Given the description of an element on the screen output the (x, y) to click on. 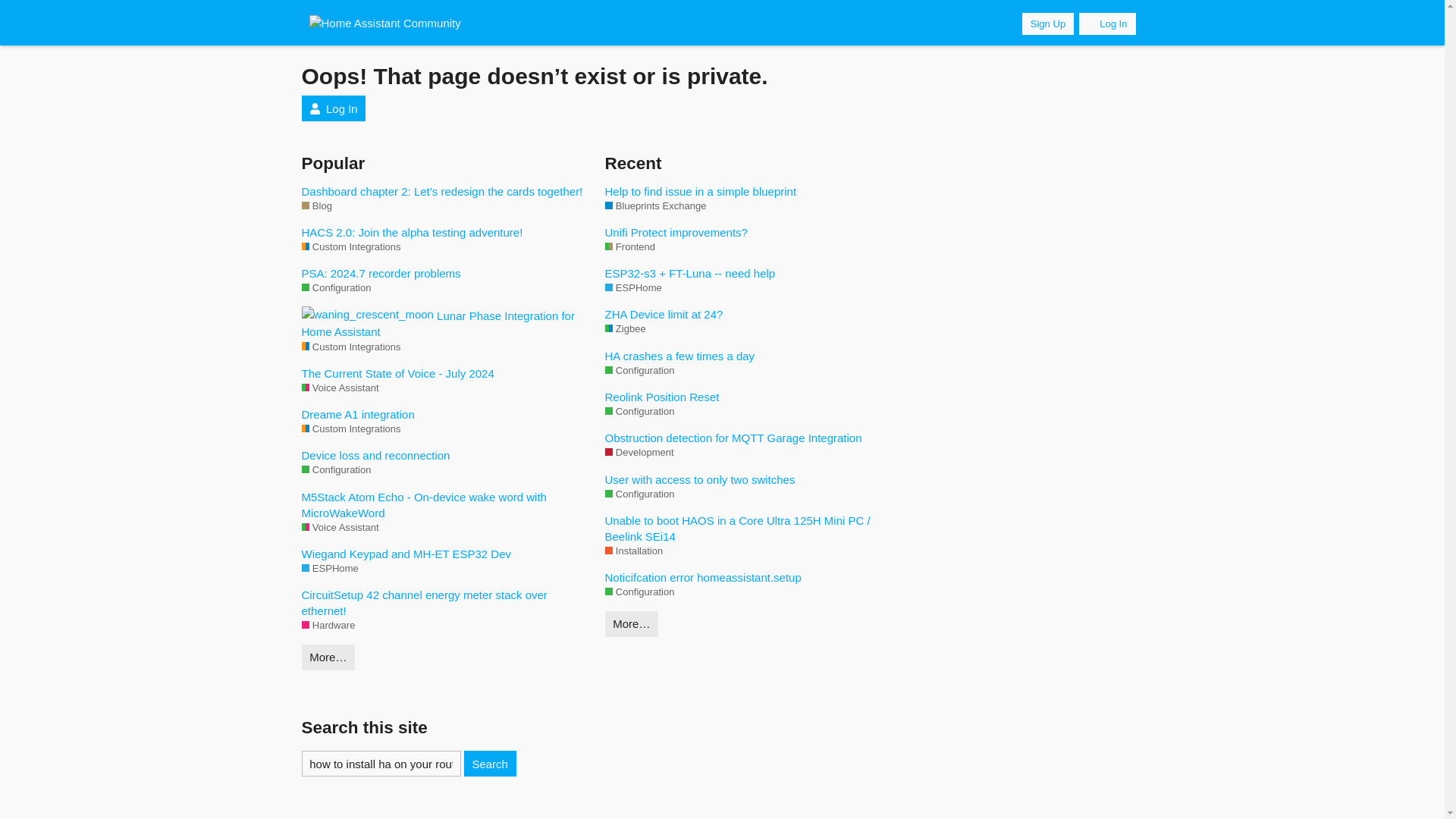
Zigbee (625, 328)
Configuration (336, 469)
ESPHome (329, 568)
Development (639, 452)
User with access to only two switches (749, 479)
Log In (333, 108)
Help to find issue in a simple blueprint (749, 191)
Obstruction detection for MQTT Garage Integration (749, 437)
